Given the description of an element on the screen output the (x, y) to click on. 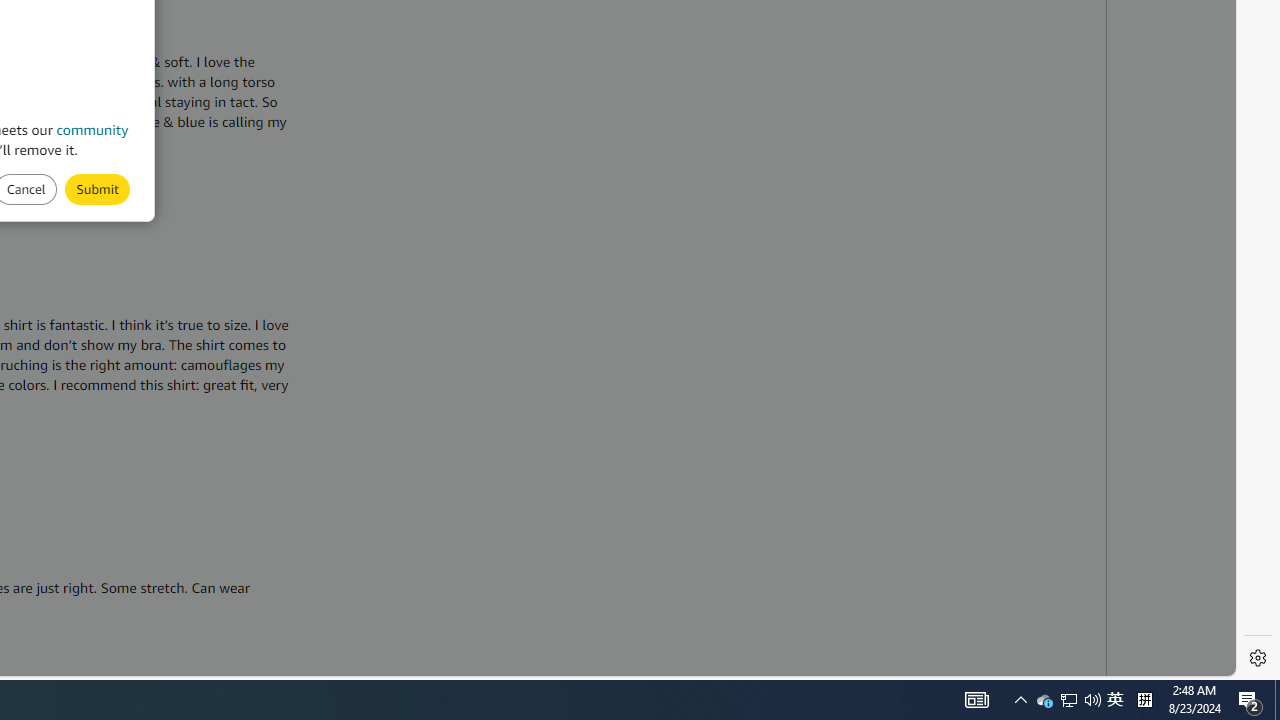
Mark this review for abuse BUTTON (97, 188)
